Given the description of an element on the screen output the (x, y) to click on. 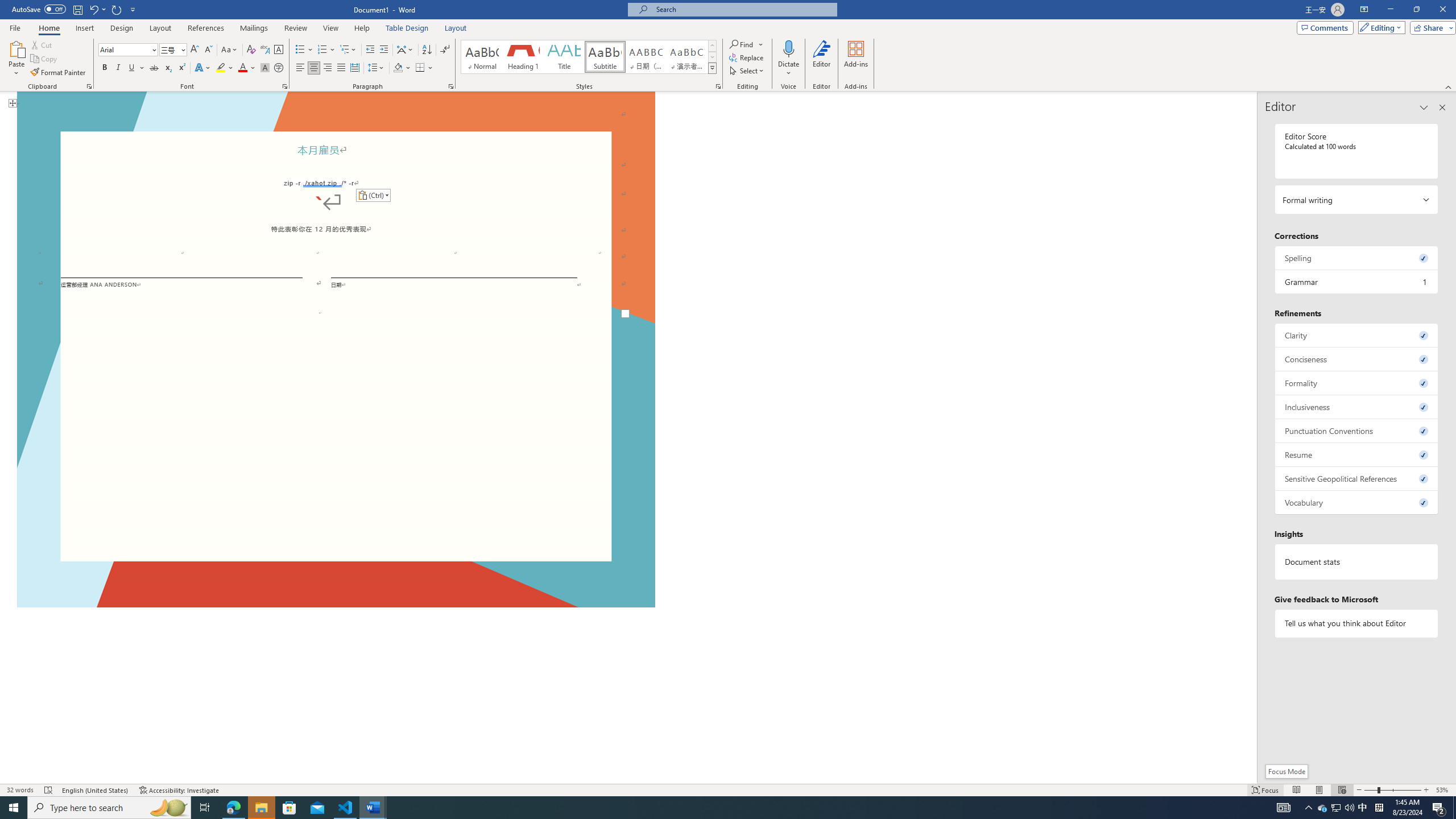
Font Color Red (241, 67)
